Given the description of an element on the screen output the (x, y) to click on. 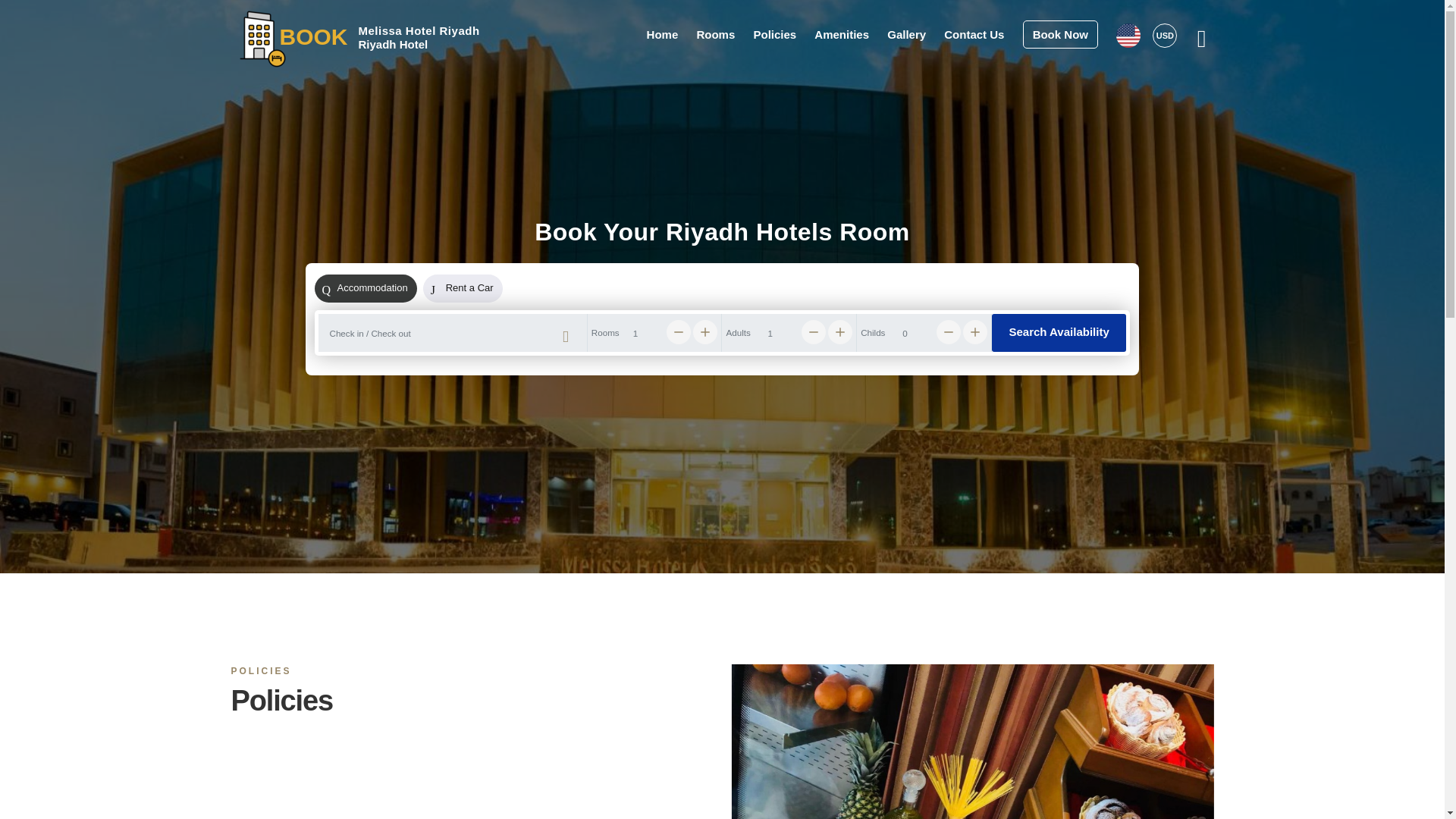
Contact Us (973, 33)
Rooms (498, 490)
Gallery (906, 33)
Amenities (841, 33)
- (678, 331)
1 (789, 332)
Policies (499, 512)
Top Attractions (767, 512)
Gallery (498, 555)
USD (1164, 35)
Riyadh Guide (764, 490)
0 (924, 332)
What's Nearby (767, 533)
- (948, 331)
1 (655, 332)
